Given the description of an element on the screen output the (x, y) to click on. 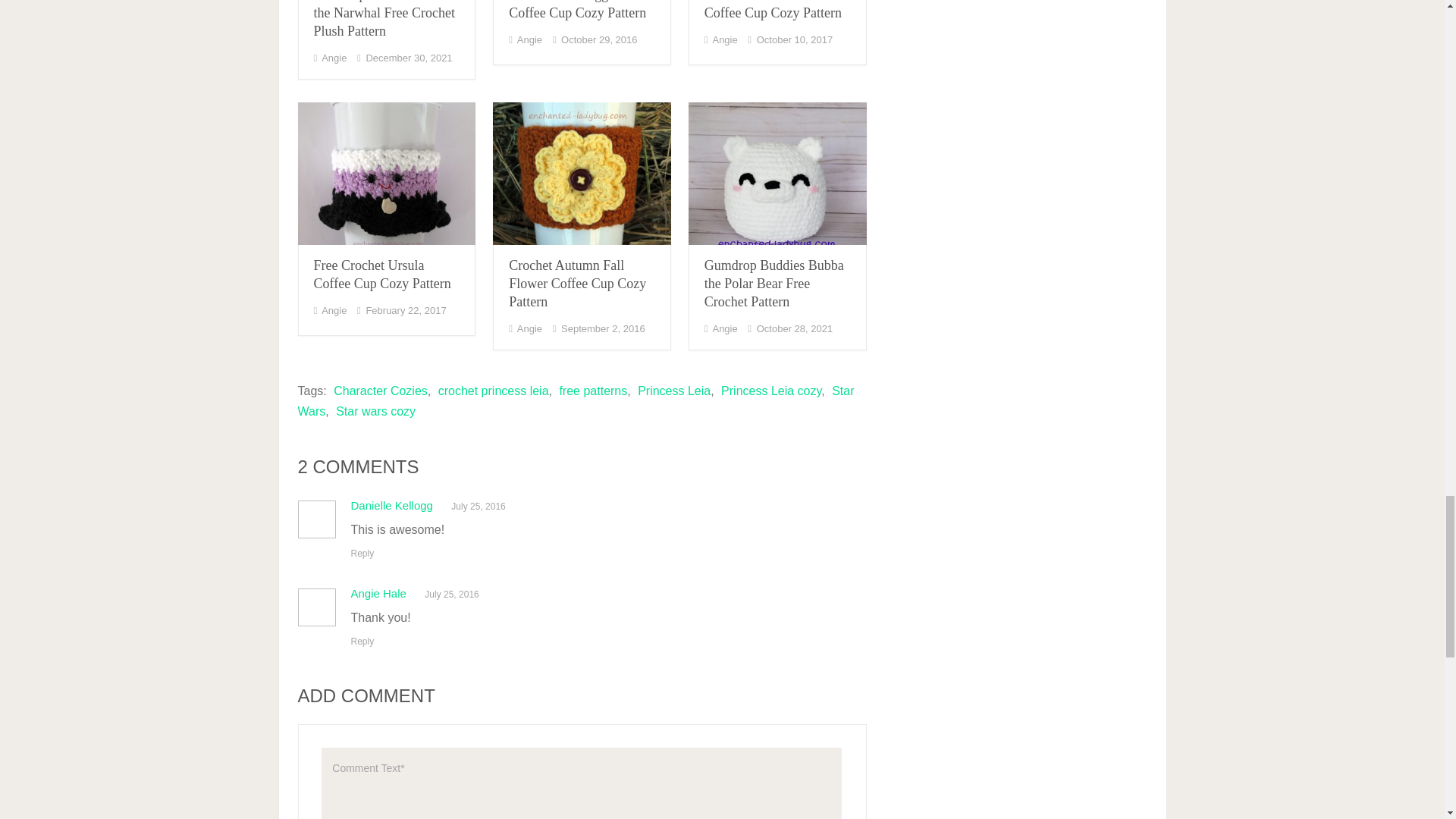
Free Crochet Tigger Coffee Cup Cozy Pattern (577, 10)
Posts by Angie (333, 57)
Gumdrop Buddies Finn the Narwhal Free Crochet Plush Pattern (384, 19)
Posts by Angie (528, 39)
